Given the description of an element on the screen output the (x, y) to click on. 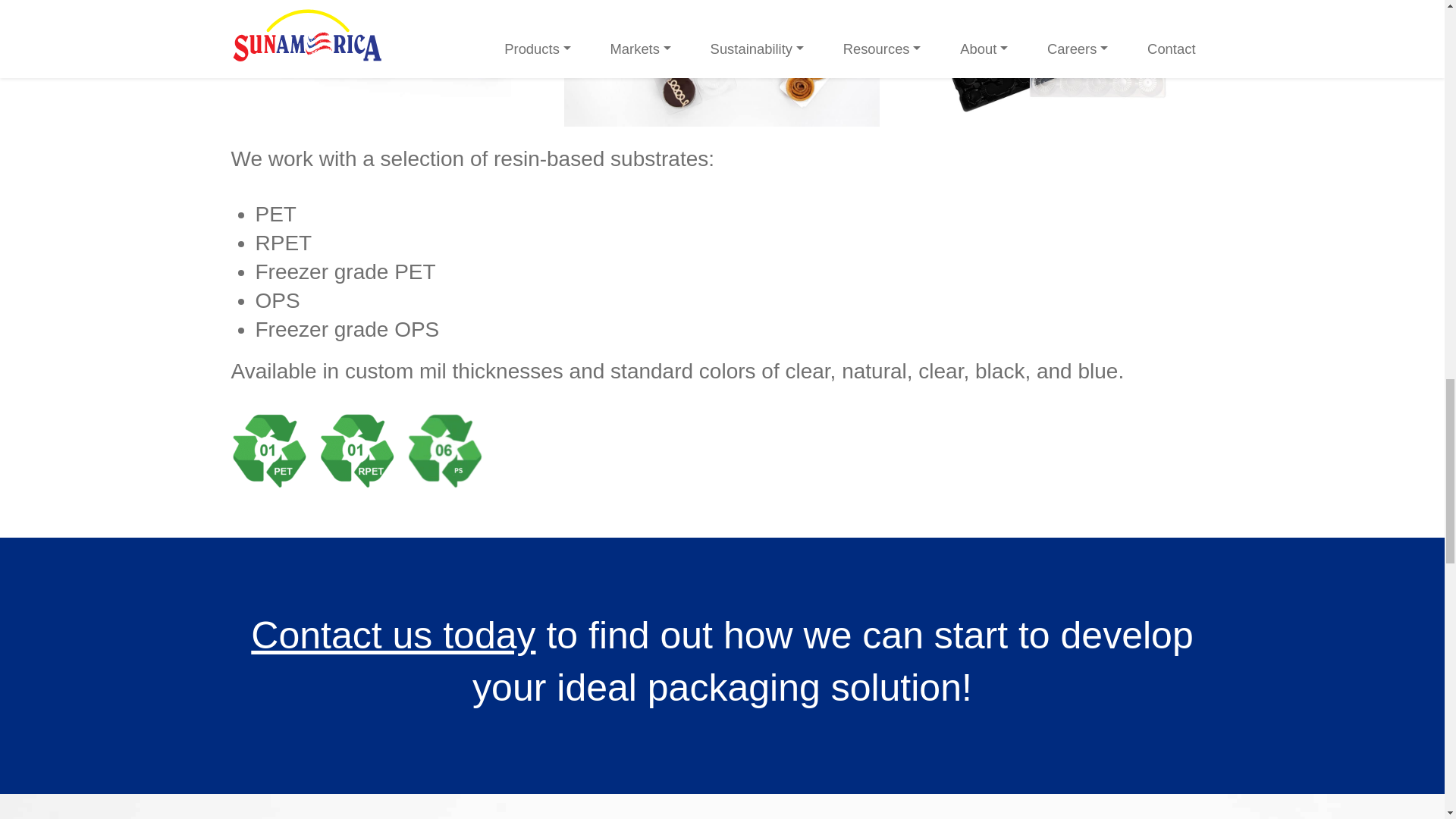
Contact us today (392, 635)
